Given the description of an element on the screen output the (x, y) to click on. 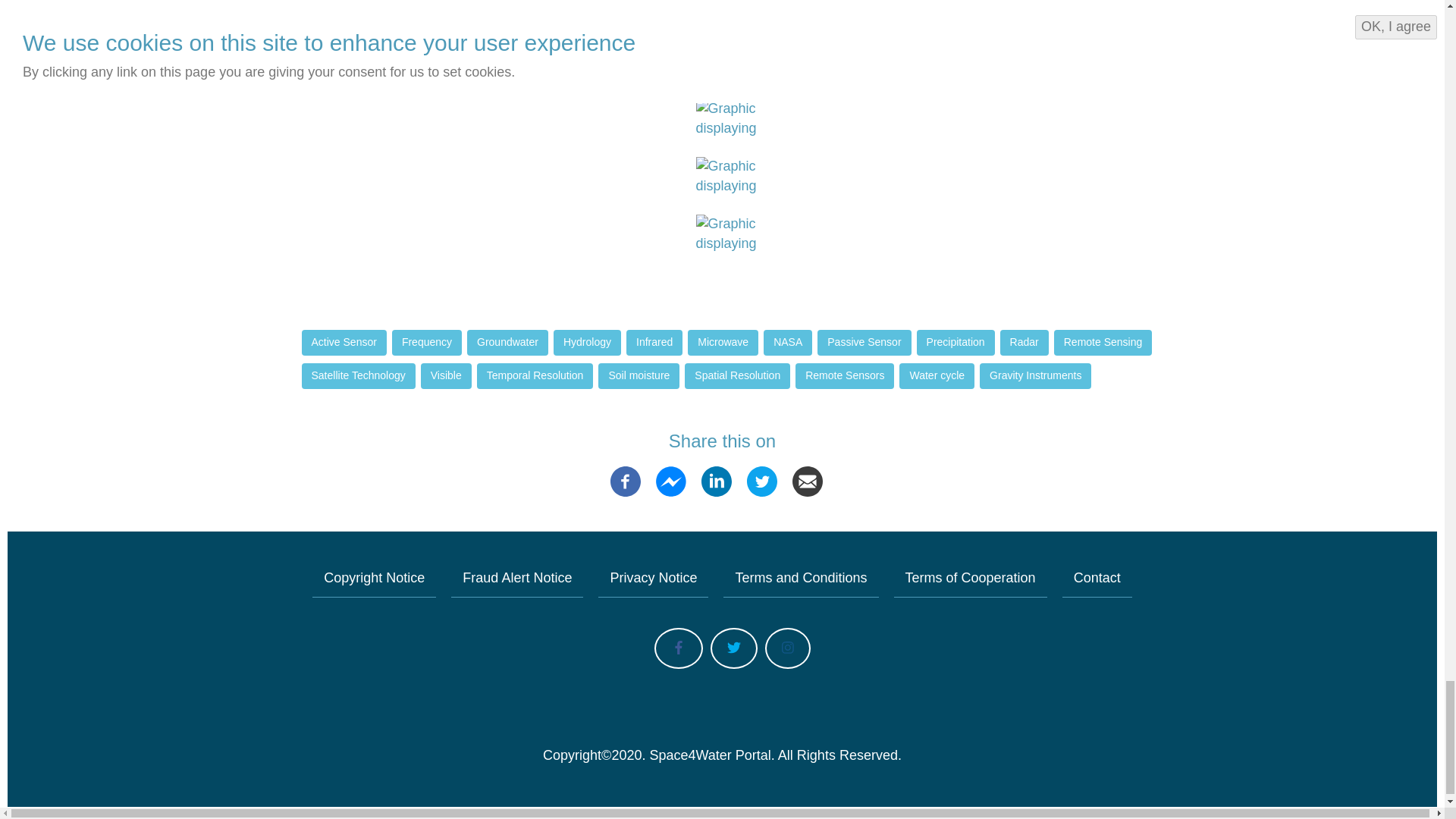
Email (807, 480)
Facebook (625, 480)
Linkedin (716, 480)
Facebook messenger (670, 480)
Twitter (761, 480)
